Given the description of an element on the screen output the (x, y) to click on. 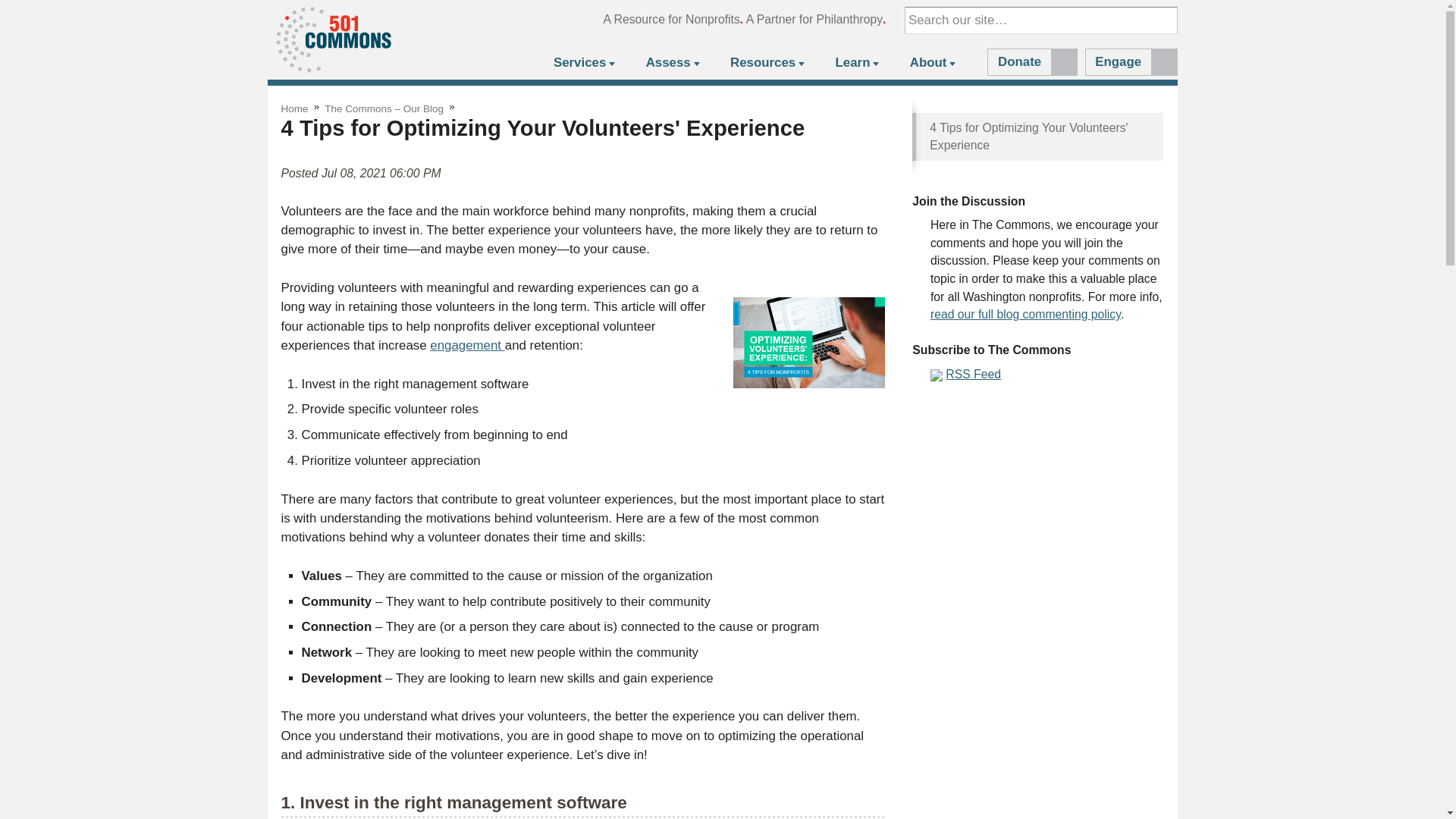
Learn (855, 64)
Services (583, 64)
501 Commons (333, 39)
Assess (671, 64)
About (930, 64)
Resources (766, 64)
